Given the description of an element on the screen output the (x, y) to click on. 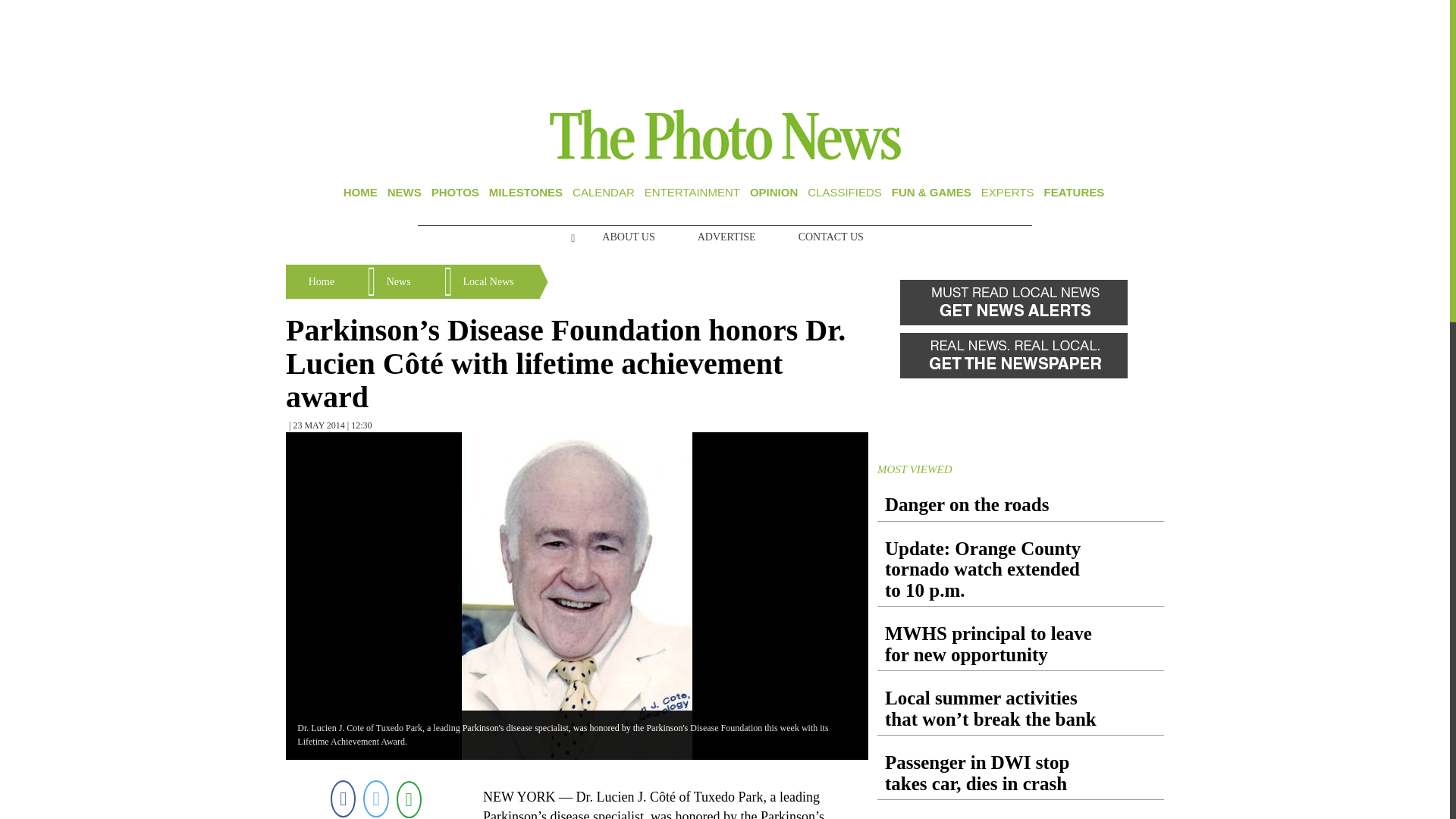
MILESTONES (525, 192)
NEWS (404, 192)
3rd party ad content (724, 49)
Photos (454, 192)
News (404, 192)
CLASSIFIEDS (845, 192)
FEATURES (1074, 192)
CALENDAR (603, 192)
HOME (360, 192)
Home (360, 192)
